Given the description of an element on the screen output the (x, y) to click on. 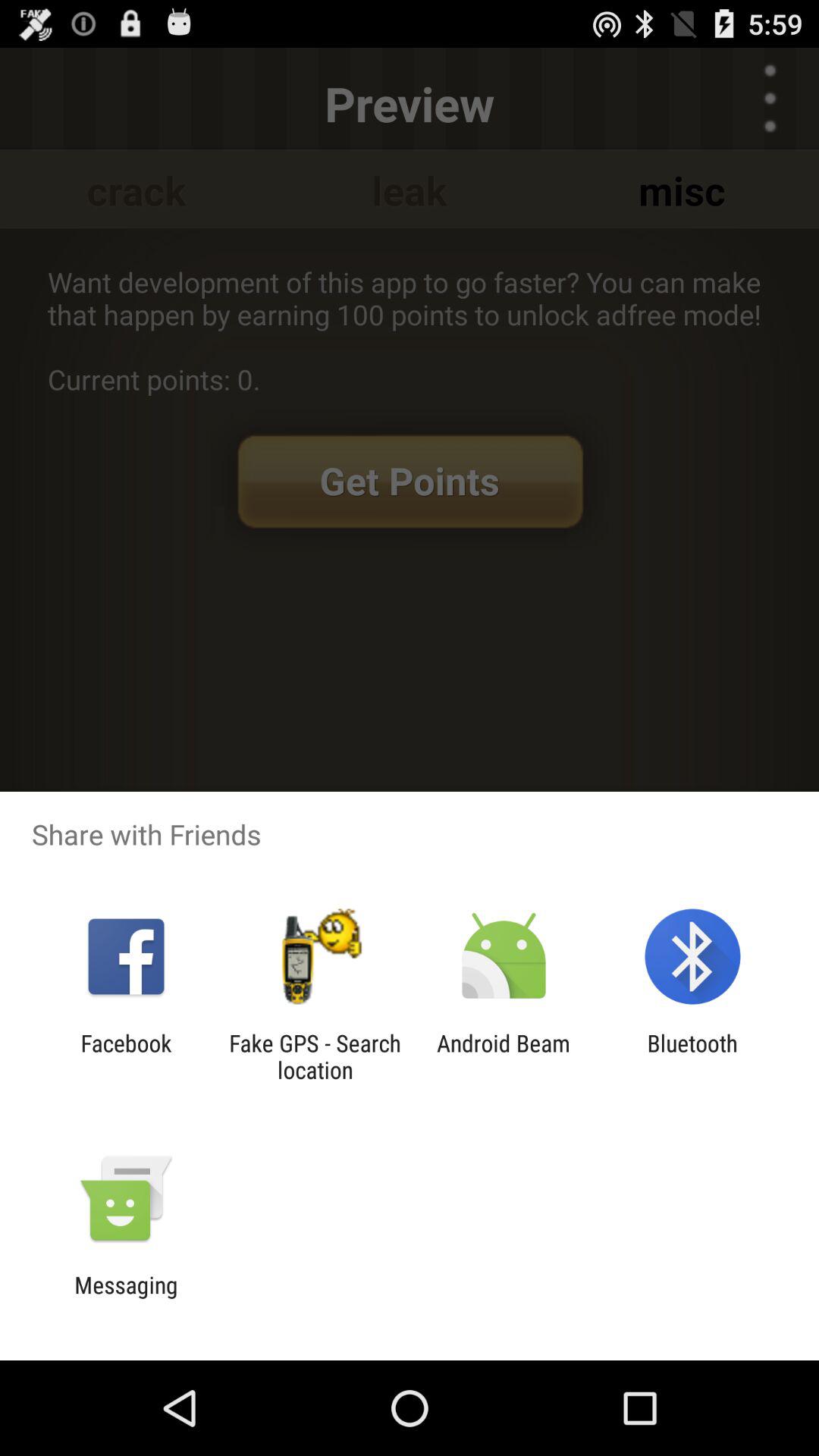
choose the icon to the right of the android beam (692, 1056)
